Given the description of an element on the screen output the (x, y) to click on. 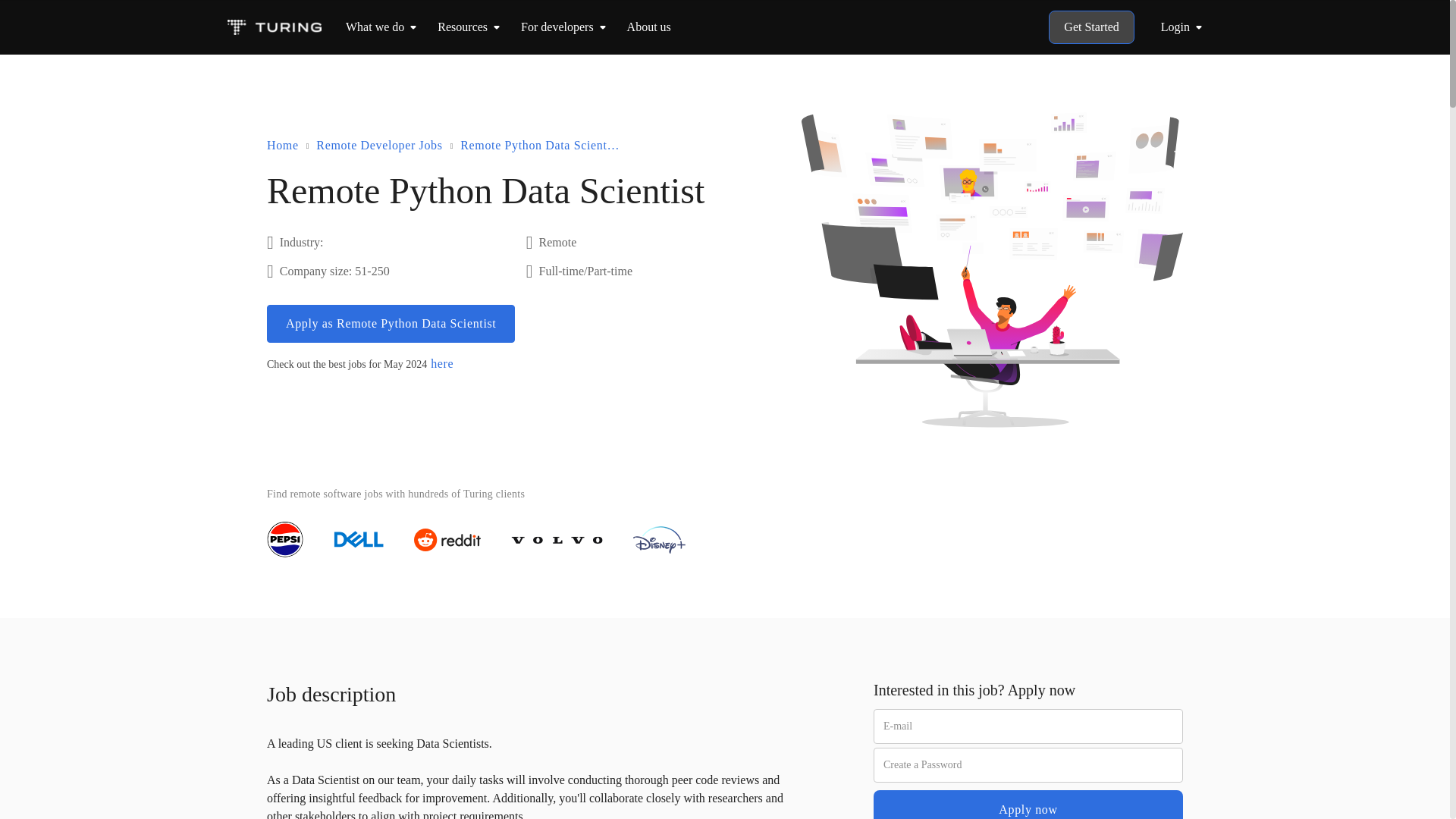
Login (1185, 26)
What we do (375, 26)
For developers (557, 26)
About us (649, 26)
Apply now (1027, 804)
Resources (462, 26)
Get Started (1091, 27)
